Given the description of an element on the screen output the (x, y) to click on. 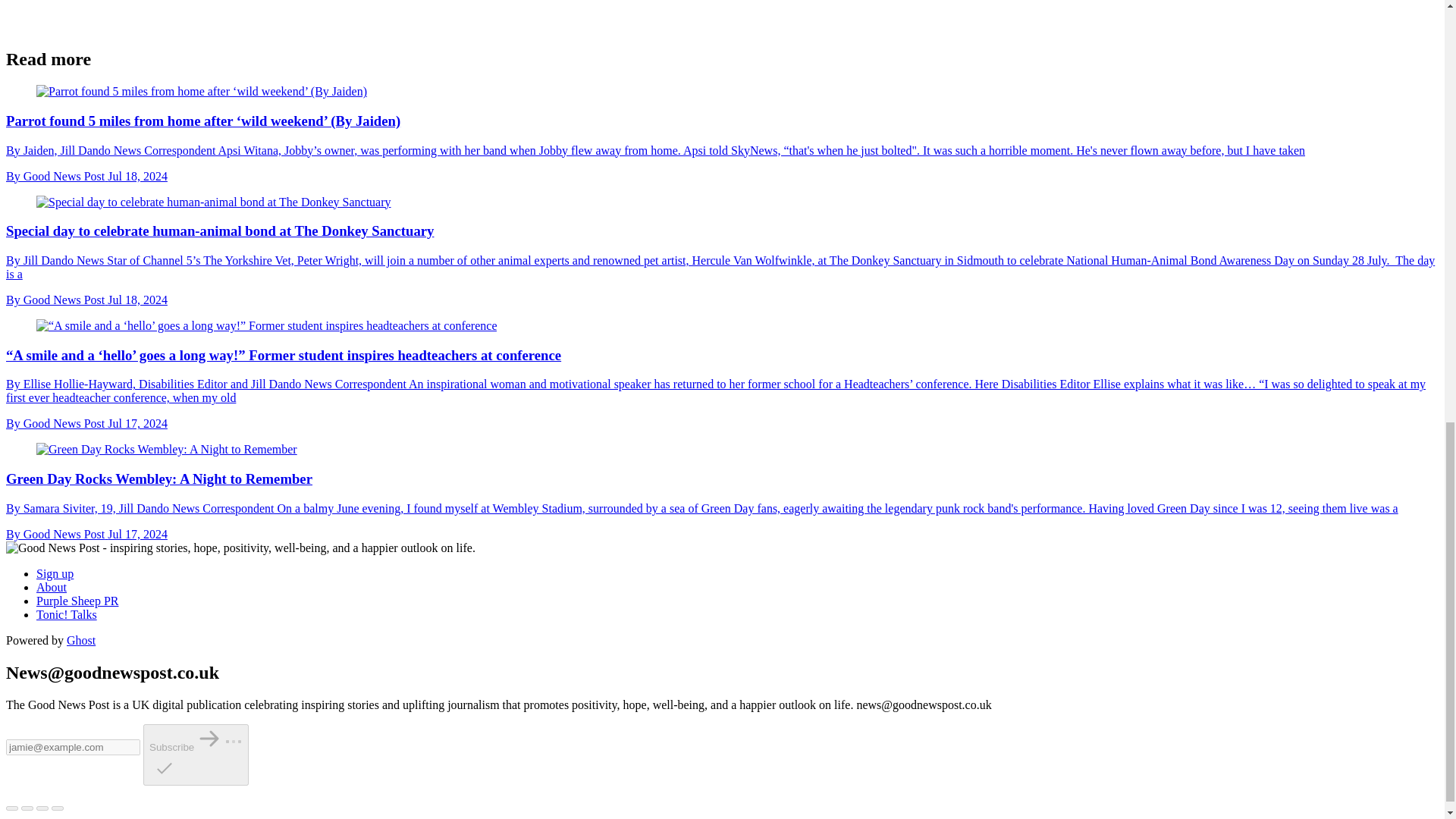
About (51, 586)
Sign up (55, 573)
Ghost (81, 640)
Purple Sheep PR (76, 600)
Tonic! Talks (66, 614)
Share (27, 807)
Toggle fullscreen (42, 807)
